Given the description of an element on the screen output the (x, y) to click on. 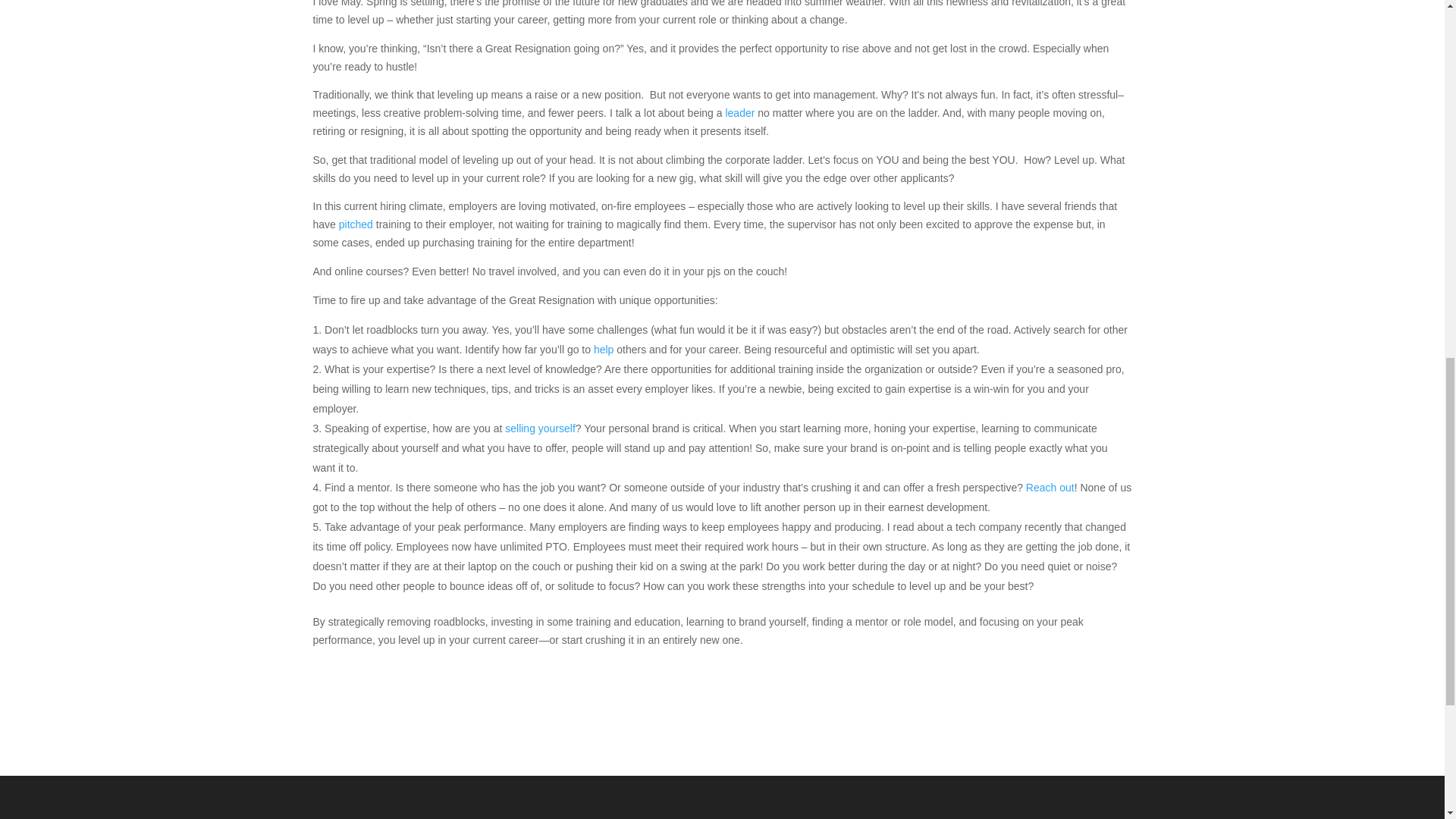
pitched (355, 224)
leader (741, 112)
help (603, 349)
selling yourself (540, 428)
Reach out (1050, 487)
